Given the description of an element on the screen output the (x, y) to click on. 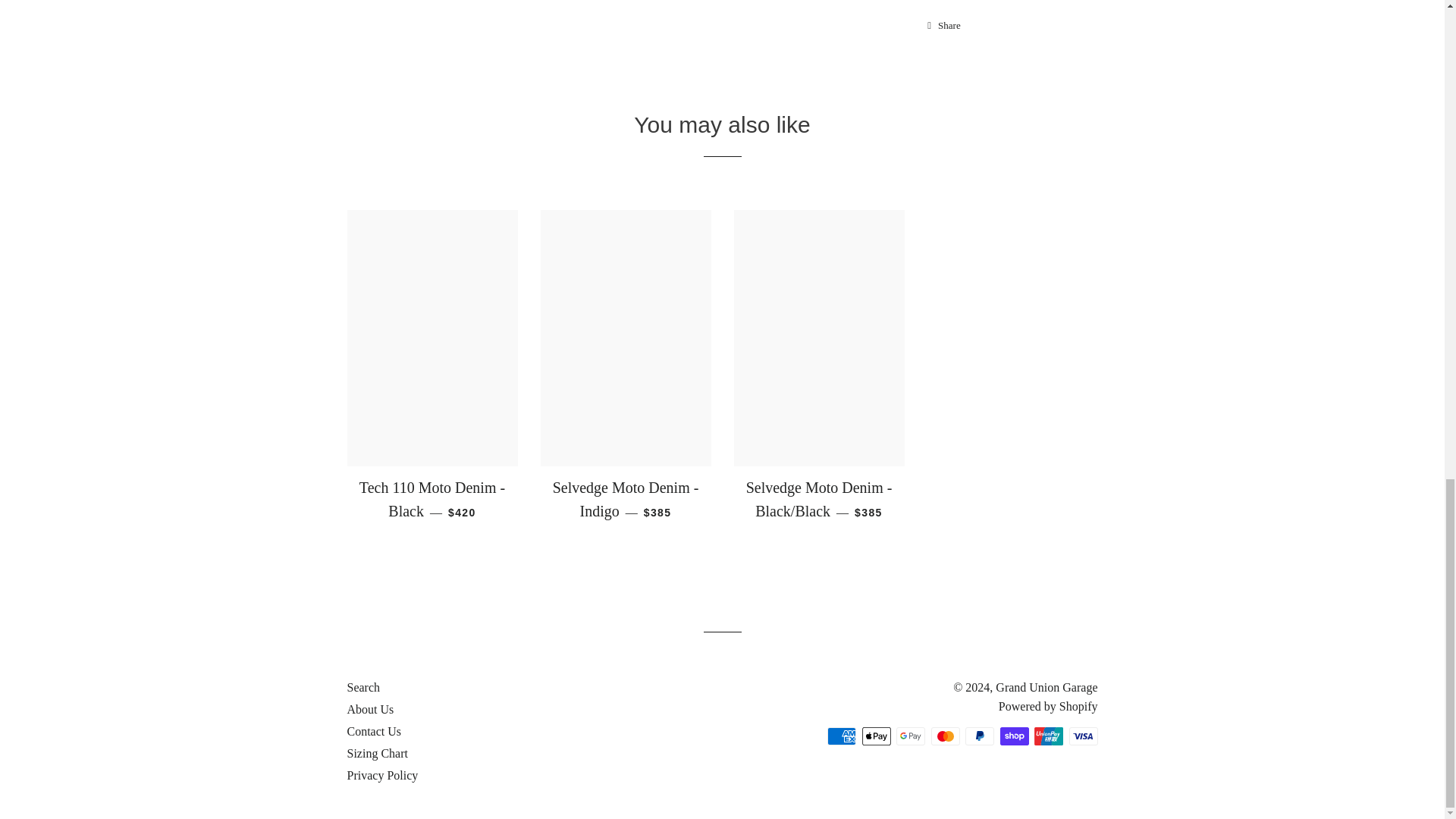
American Express (841, 736)
Shop Pay (1012, 736)
Union Pay (1047, 736)
Share on Facebook (944, 25)
PayPal (979, 736)
Visa (1082, 736)
Google Pay (910, 736)
Apple Pay (875, 736)
Mastercard (945, 736)
